Given the description of an element on the screen output the (x, y) to click on. 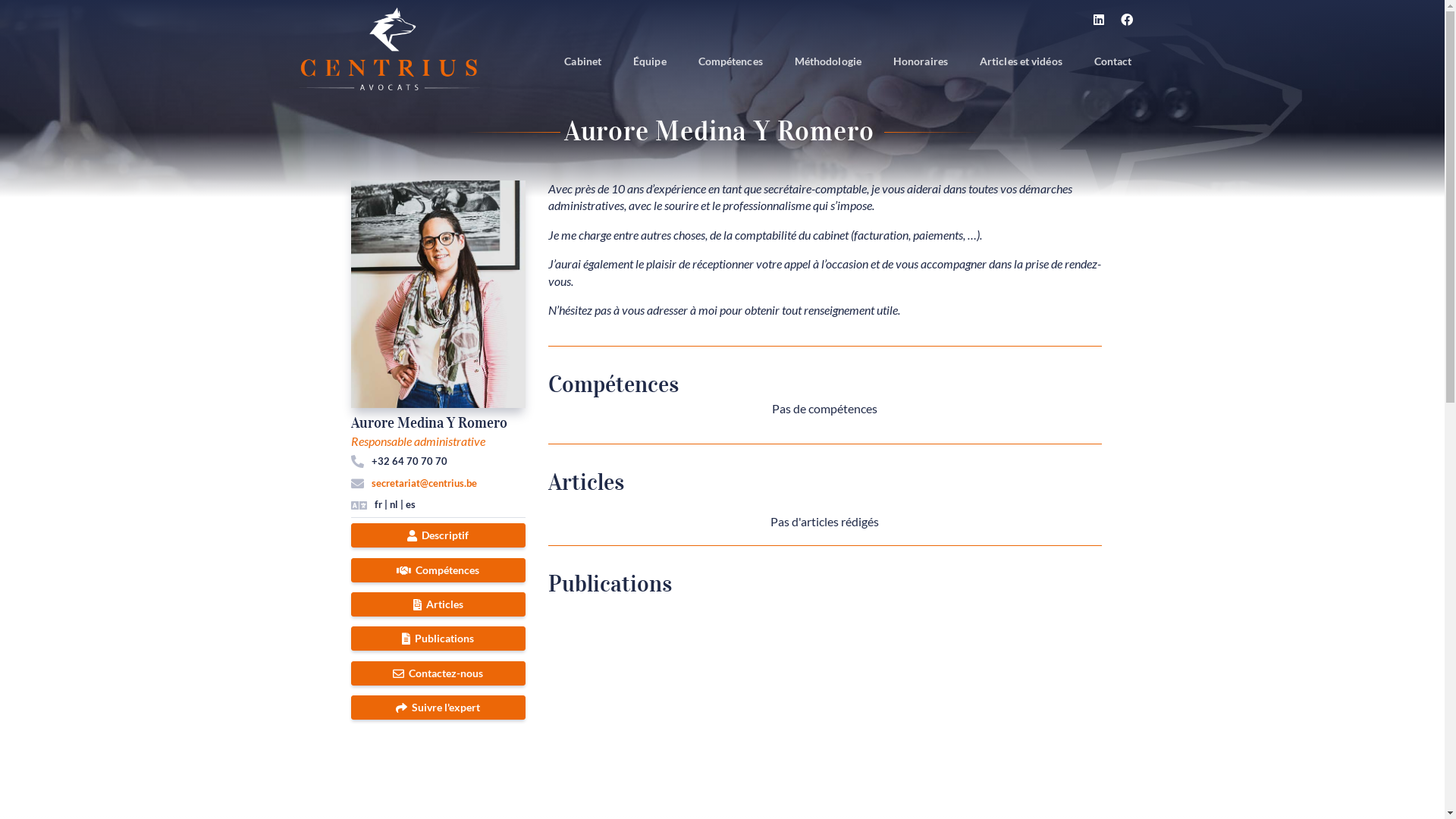
Suivre l'avocat Element type: text (170, 461)
Articles Element type: text (437, 604)
secretariat@centrius.be Element type: text (423, 482)
Contact Element type: text (1113, 61)
Descriptif Element type: text (437, 535)
Cabinet Element type: text (582, 61)
Suivre l'expert Element type: text (437, 707)
Publications Element type: text (437, 638)
Contactez-nous Element type: text (437, 673)
Honoraires Element type: text (920, 61)
